Given the description of an element on the screen output the (x, y) to click on. 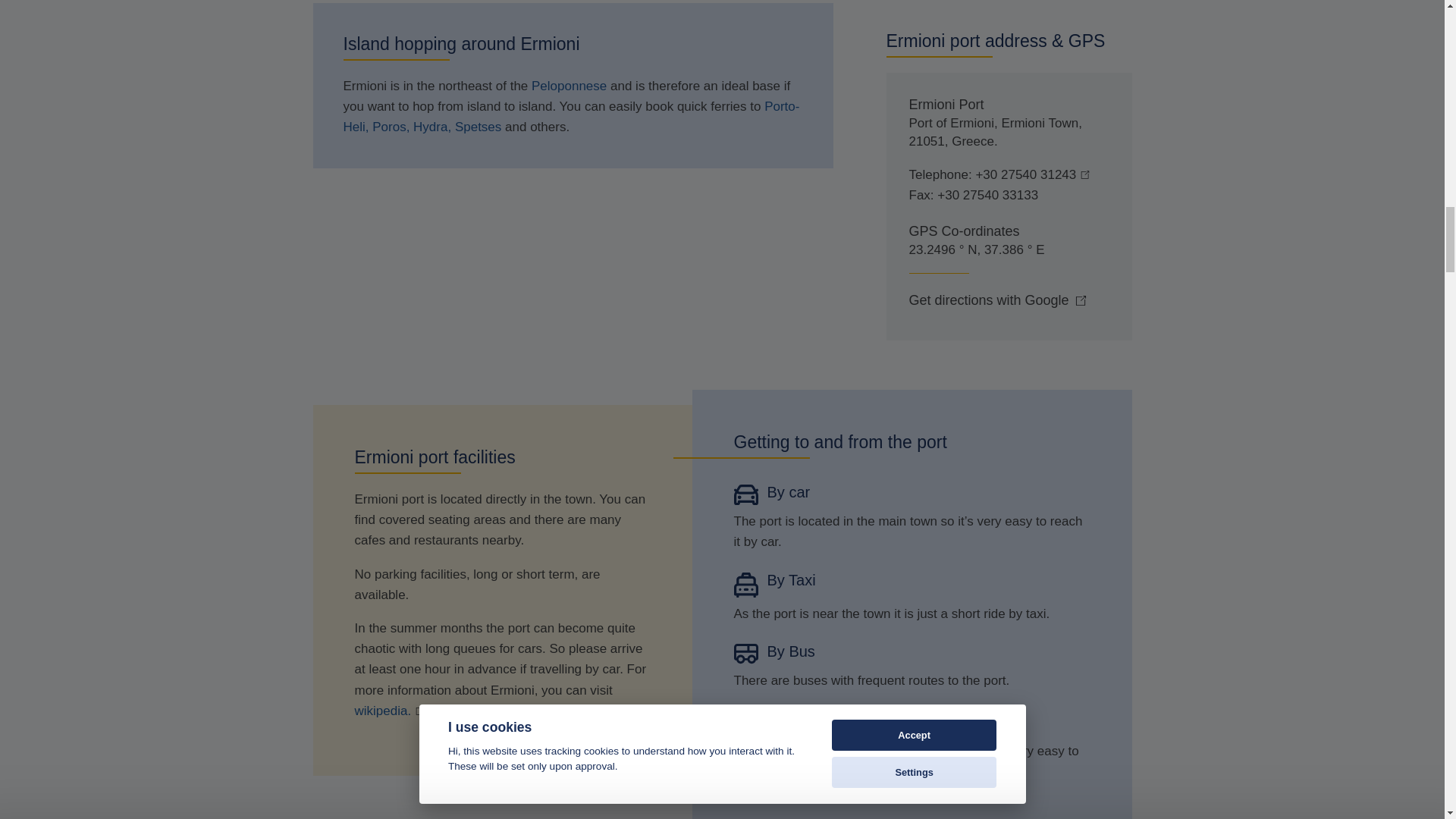
Hydra, (433, 126)
Spetses (479, 126)
Peloponnese (569, 85)
Porto-Heli, (570, 116)
Poros, (392, 126)
